Given the description of an element on the screen output the (x, y) to click on. 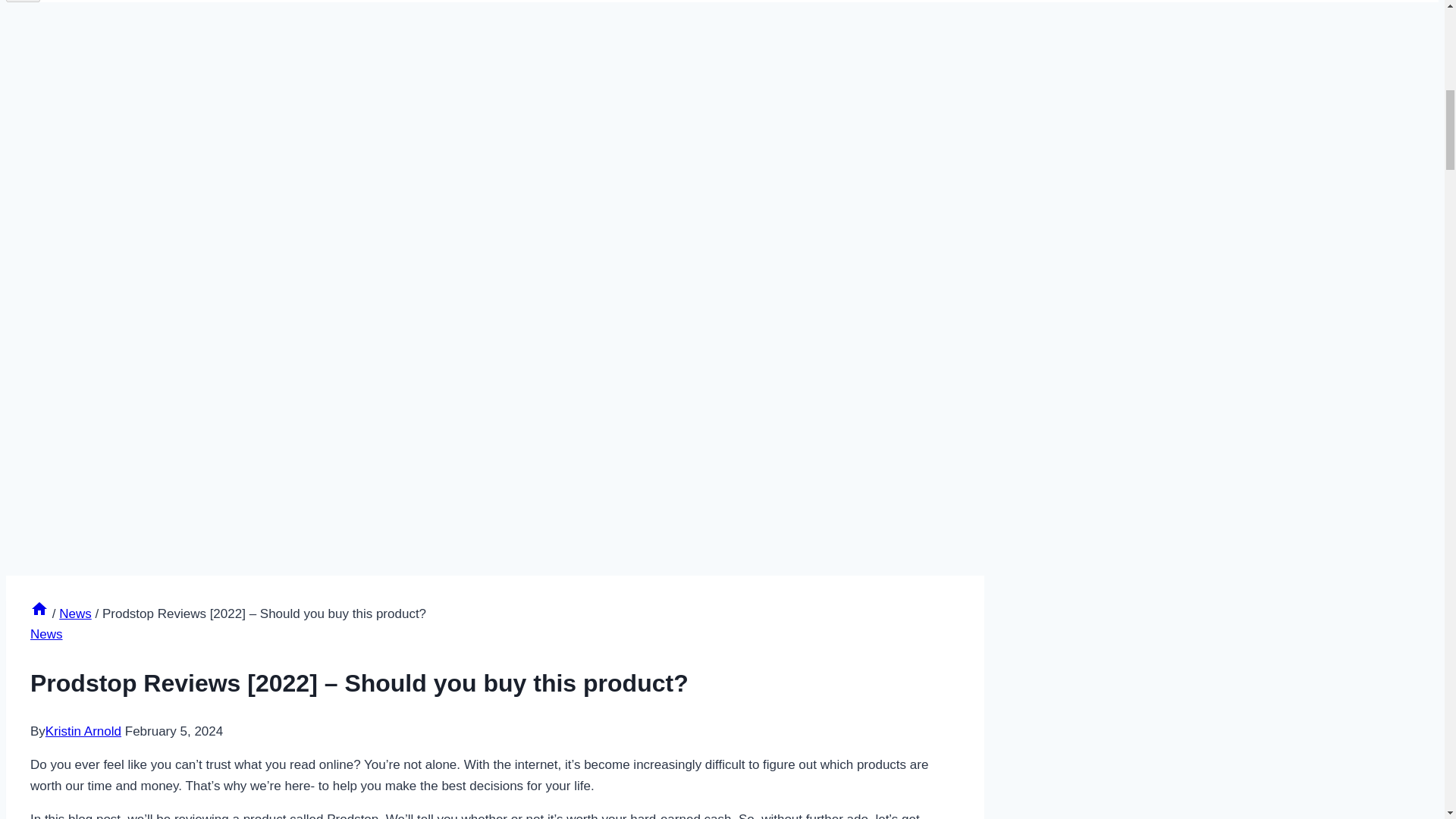
Home (39, 608)
Home (39, 613)
Toggle Menu (22, 0)
News (75, 613)
Kristin Arnold (82, 730)
Home (39, 613)
News (46, 634)
